Given the description of an element on the screen output the (x, y) to click on. 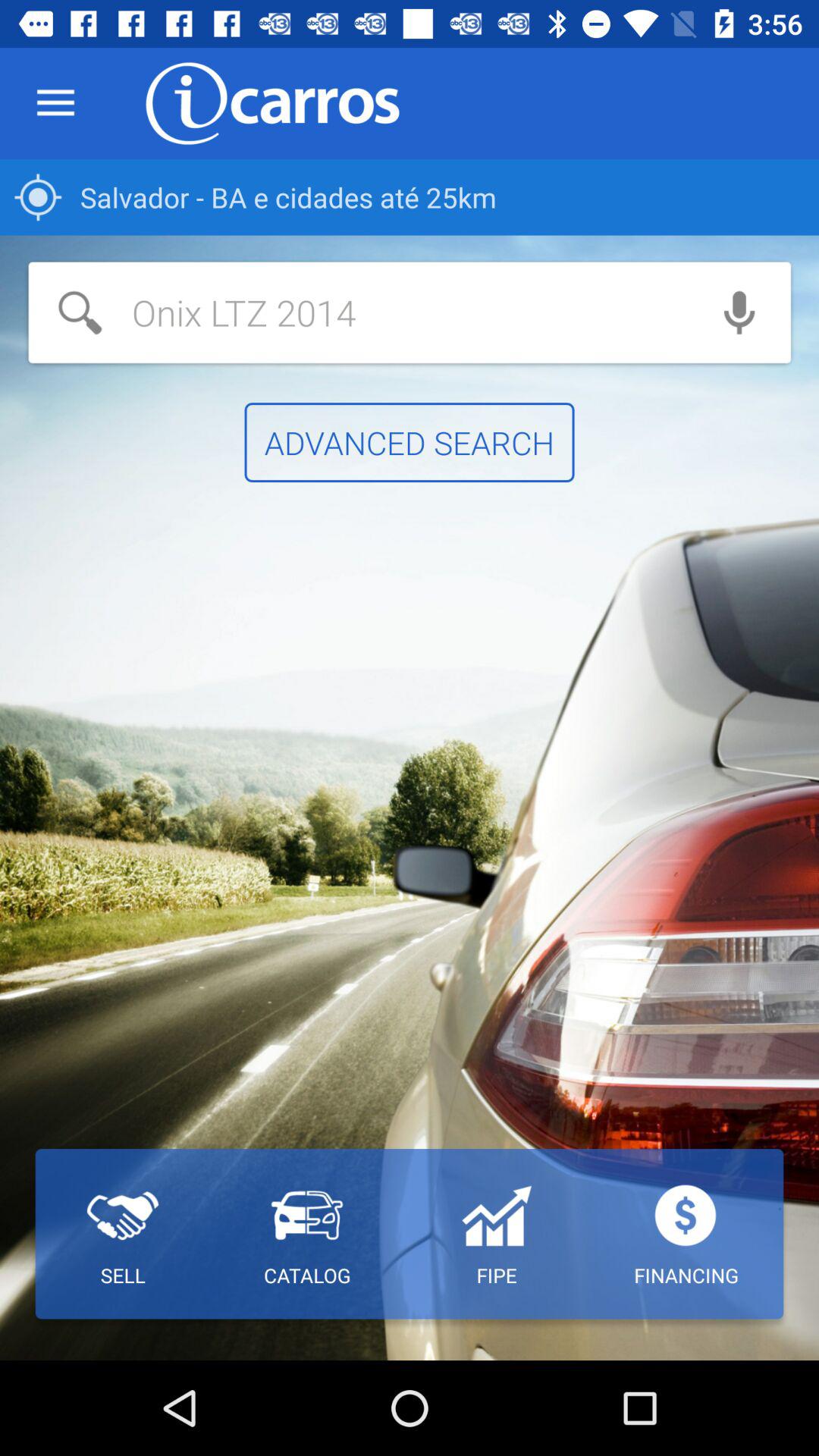
open text field (357, 312)
